Given the description of an element on the screen output the (x, y) to click on. 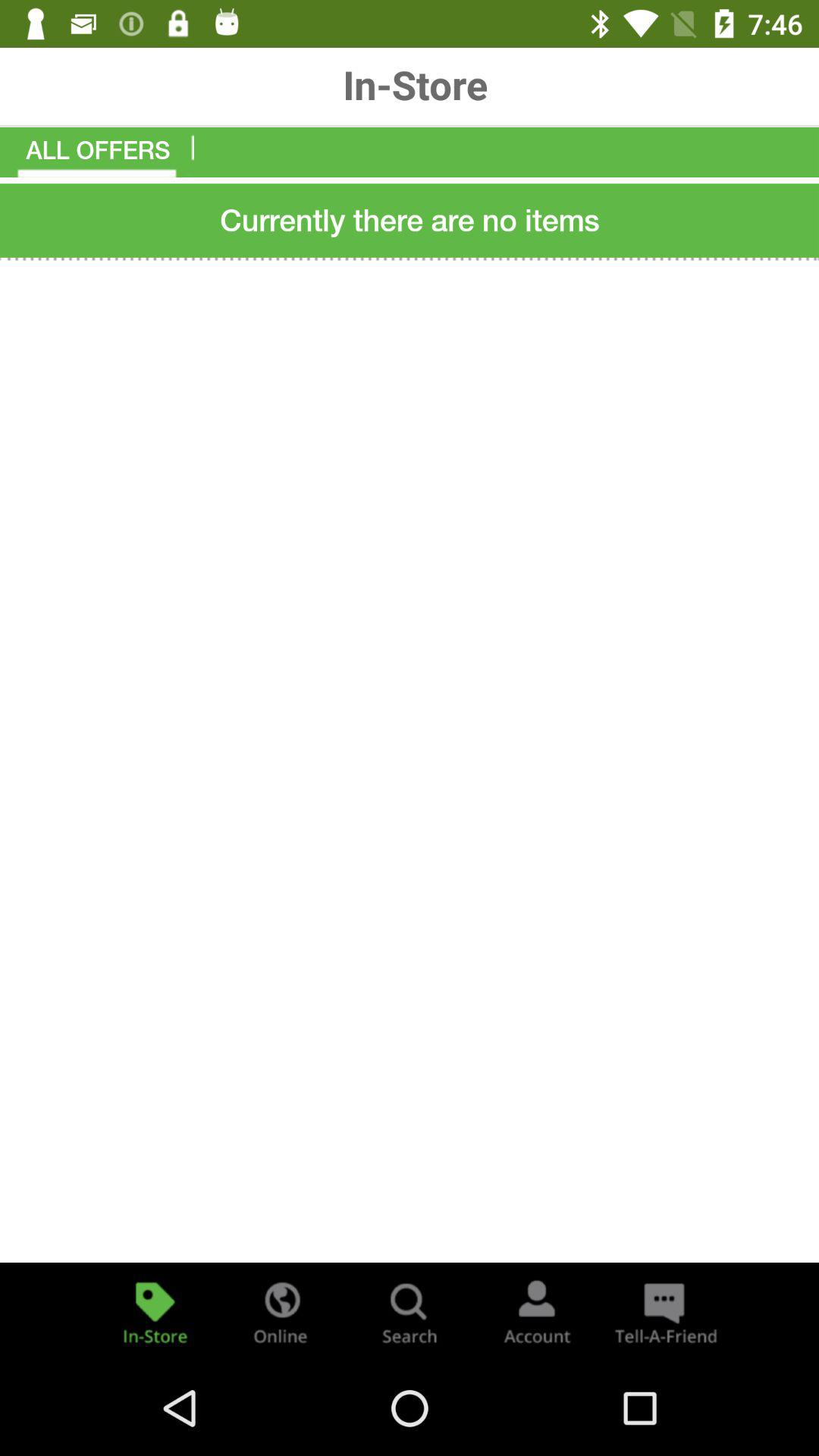
online deal offers (281, 1311)
